Given the description of an element on the screen output the (x, y) to click on. 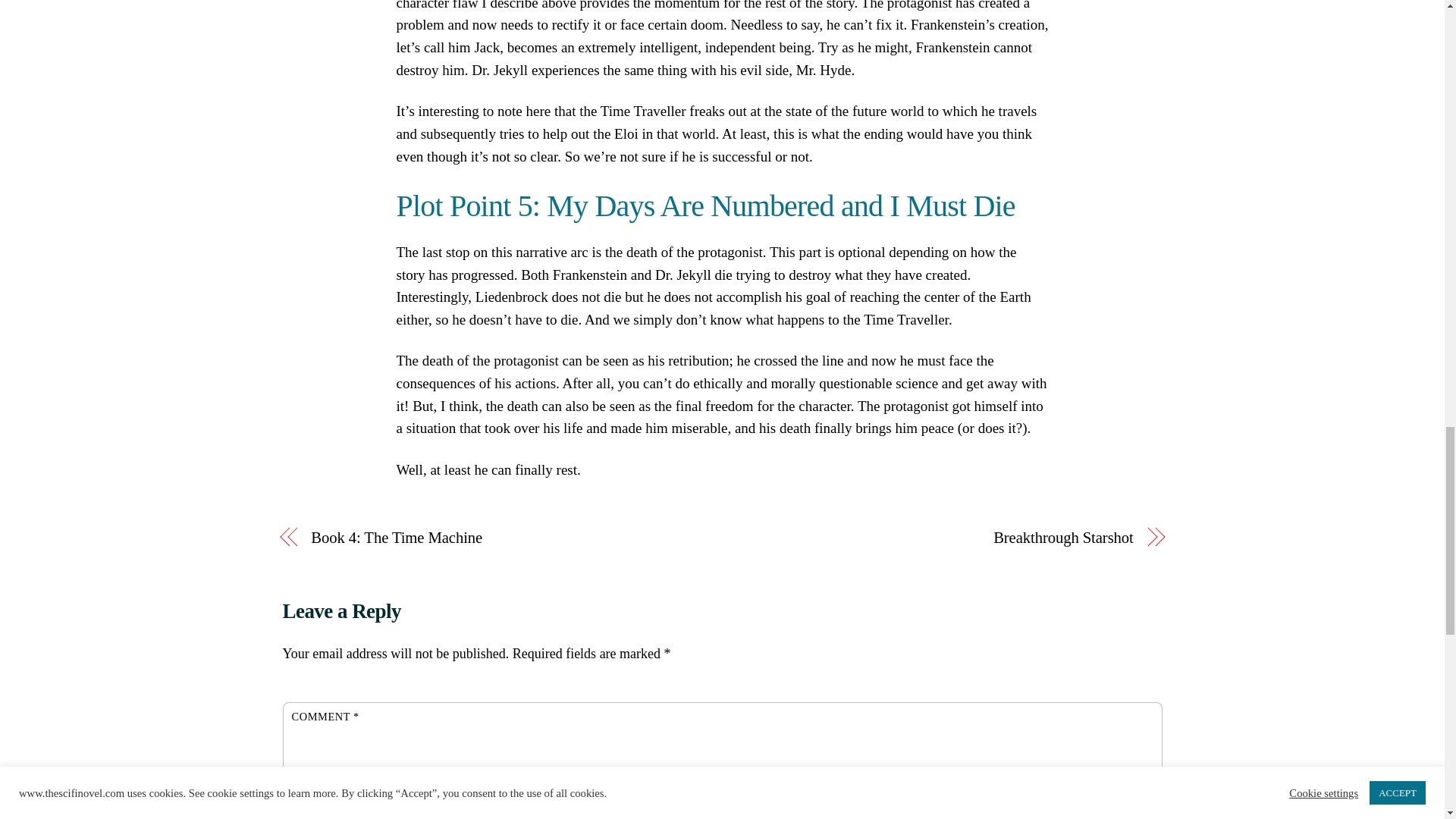
Book 4: The Time Machine (503, 538)
Breakthrough Starshot (940, 538)
